Given the description of an element on the screen output the (x, y) to click on. 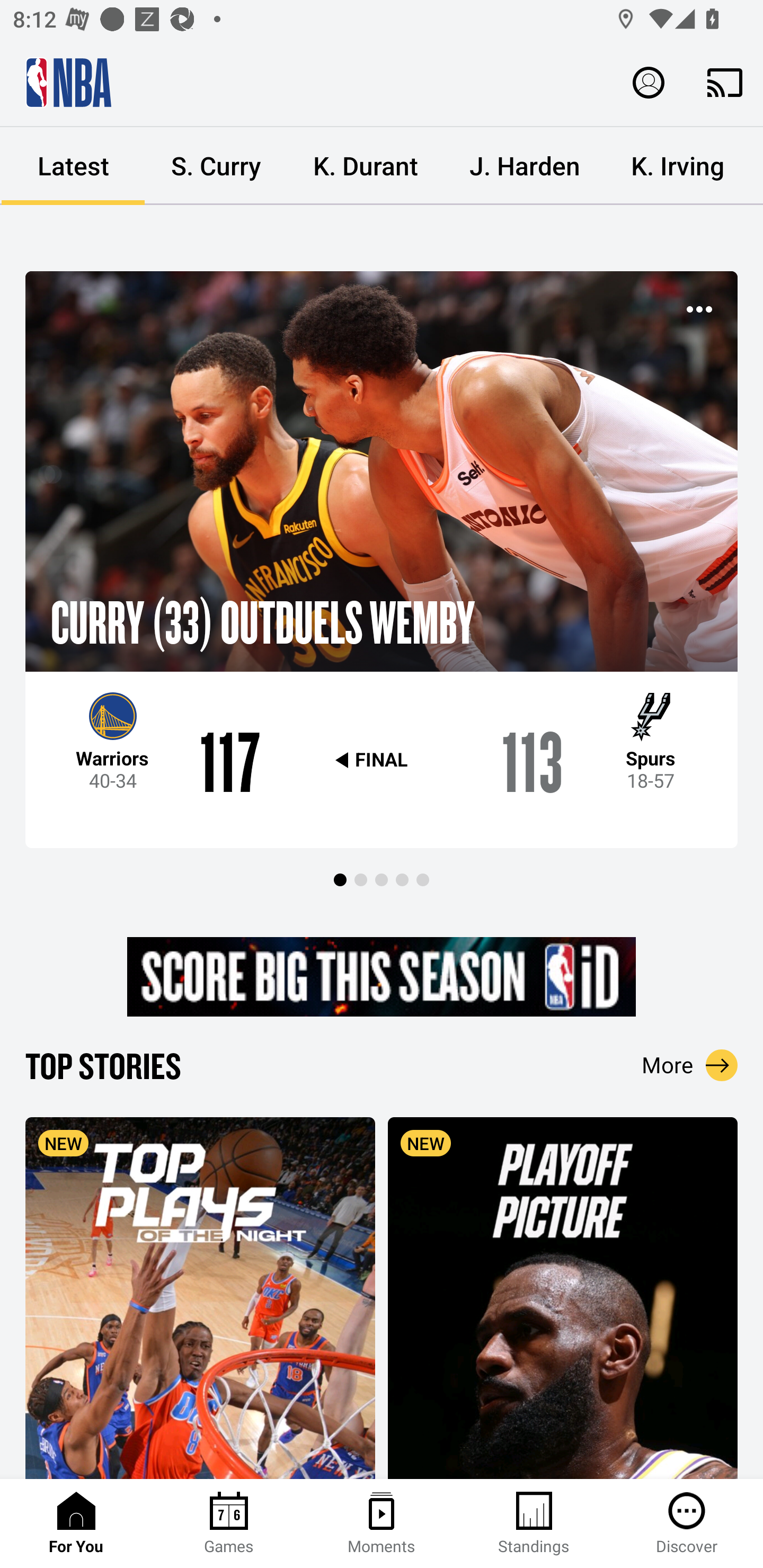
Cast. Disconnected (724, 82)
Profile (648, 81)
S. Curry (215, 166)
K. Durant (365, 166)
J. Harden (524, 166)
K. Irving (677, 166)
TOP STORIES More NEW NEW (381, 1260)
More (689, 1064)
NEW (200, 1297)
NEW (562, 1297)
Games (228, 1523)
Moments (381, 1523)
Standings (533, 1523)
Discover (686, 1523)
